Given the description of an element on the screen output the (x, y) to click on. 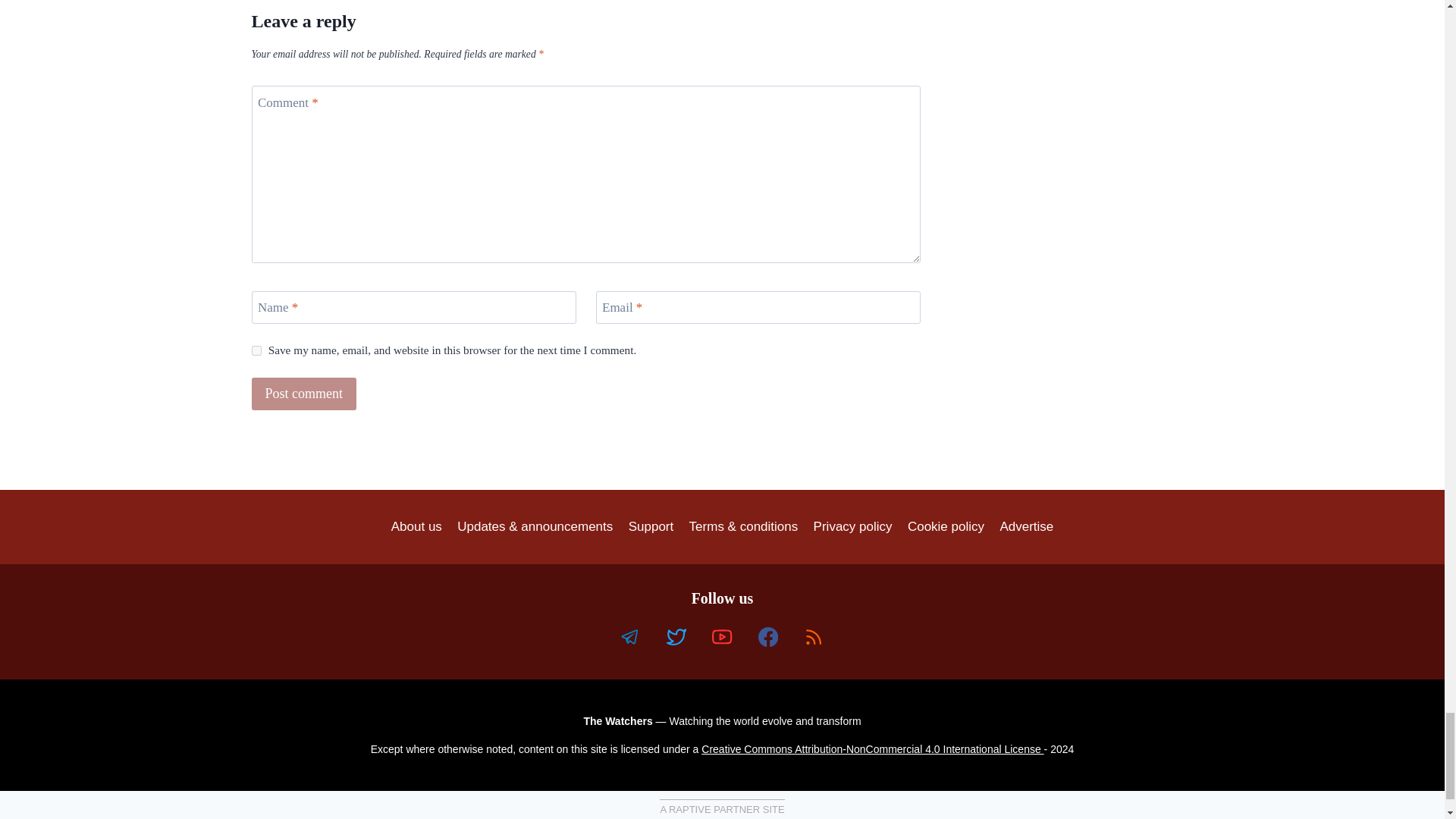
yes (256, 350)
Post comment (303, 393)
